Given the description of an element on the screen output the (x, y) to click on. 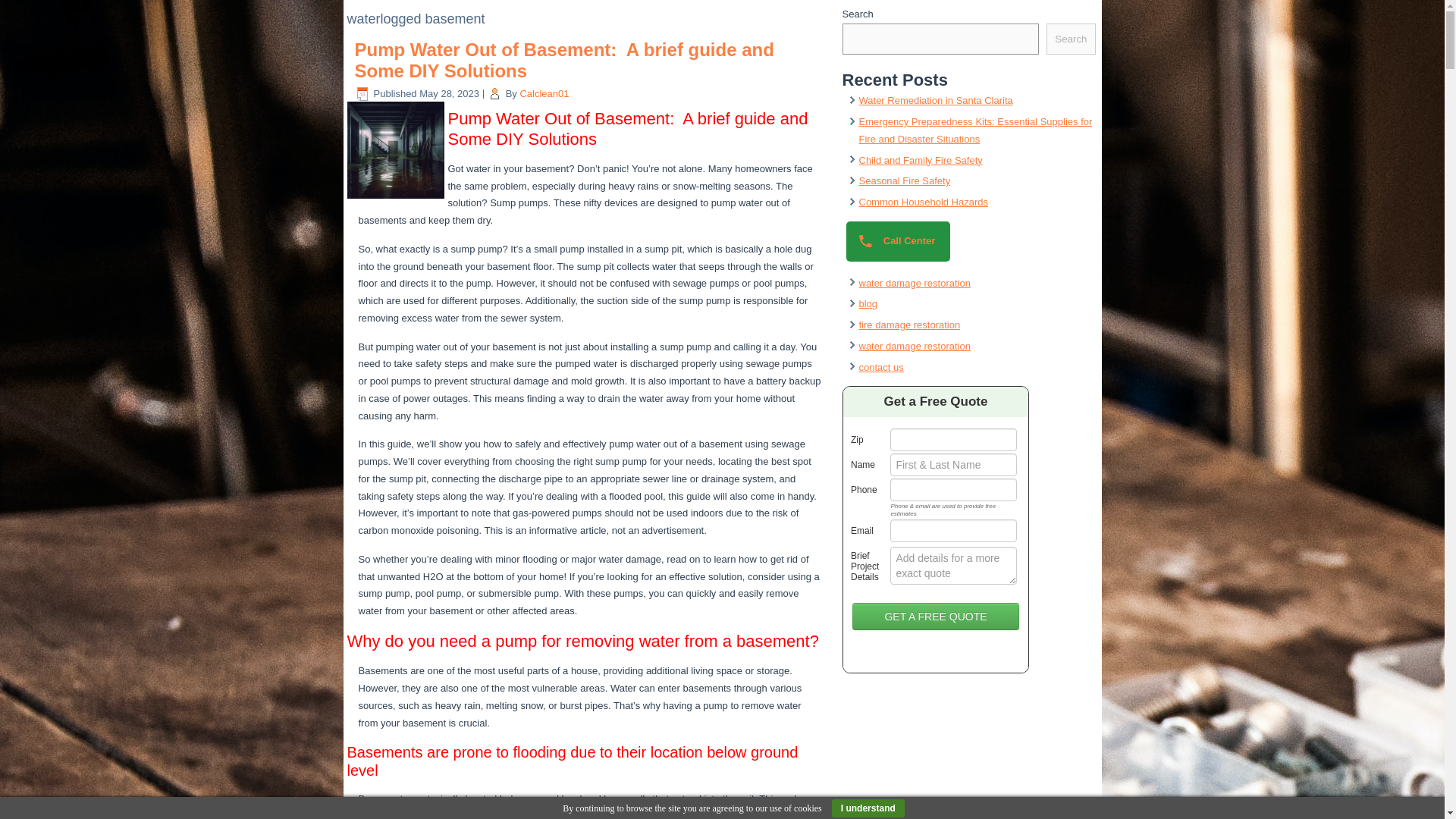
Call Center (897, 241)
I understand (867, 808)
water damage restoration (914, 346)
5:14 am (449, 93)
Search (1070, 38)
Common Household Hazards (923, 202)
Seasonal Fire Safety (904, 180)
water damage restoration (914, 283)
Child and Family Fire Safety (920, 160)
blog (868, 303)
fire damage restoration (909, 324)
